Given the description of an element on the screen output the (x, y) to click on. 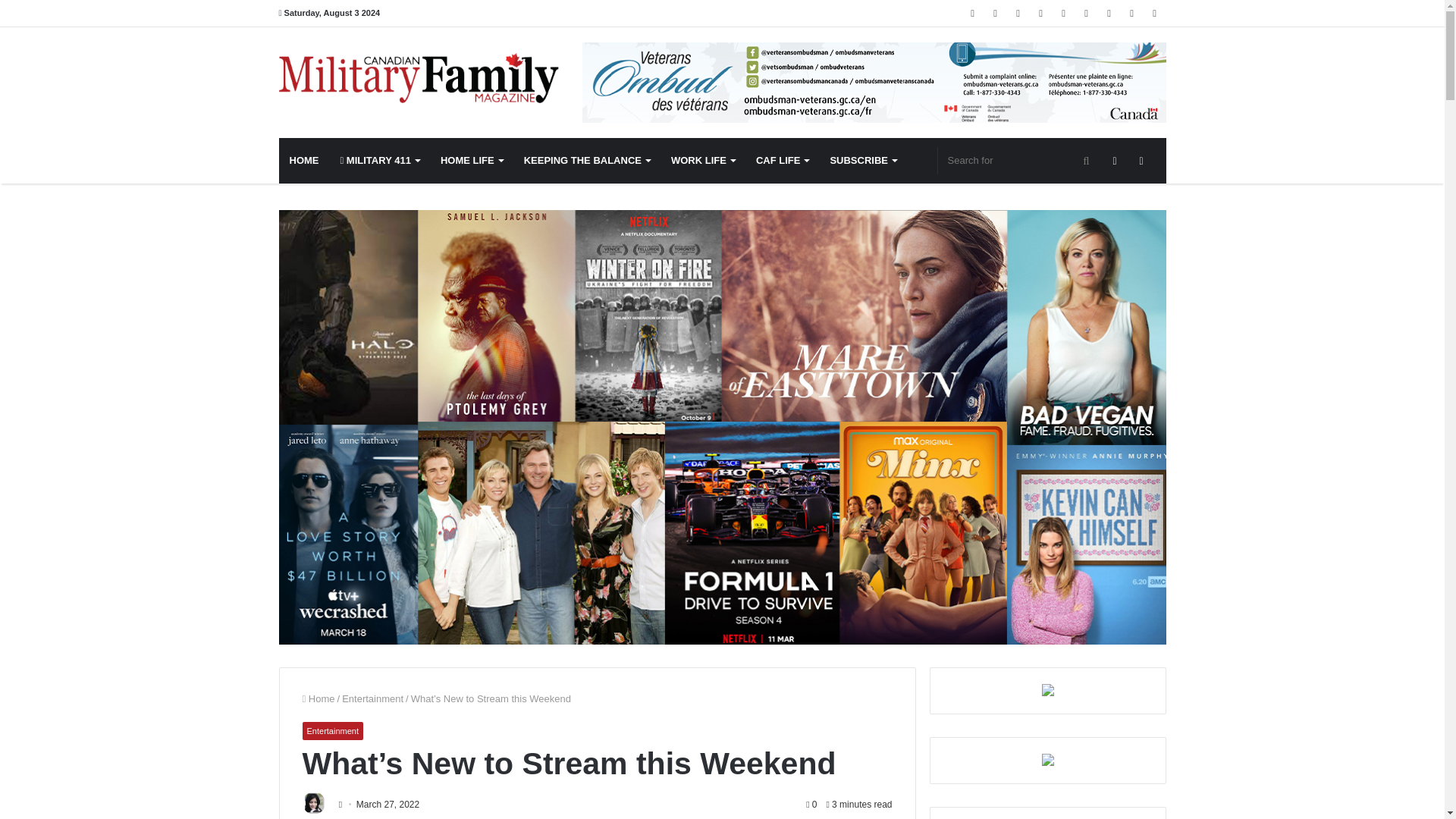
WORK LIFE (703, 160)
Search for (1018, 160)
HOME (304, 160)
Canadian Military Family Magazine (419, 78)
MILITARY 411 (379, 160)
KEEPING THE BALANCE (587, 160)
HOME LIFE (471, 160)
